Given the description of an element on the screen output the (x, y) to click on. 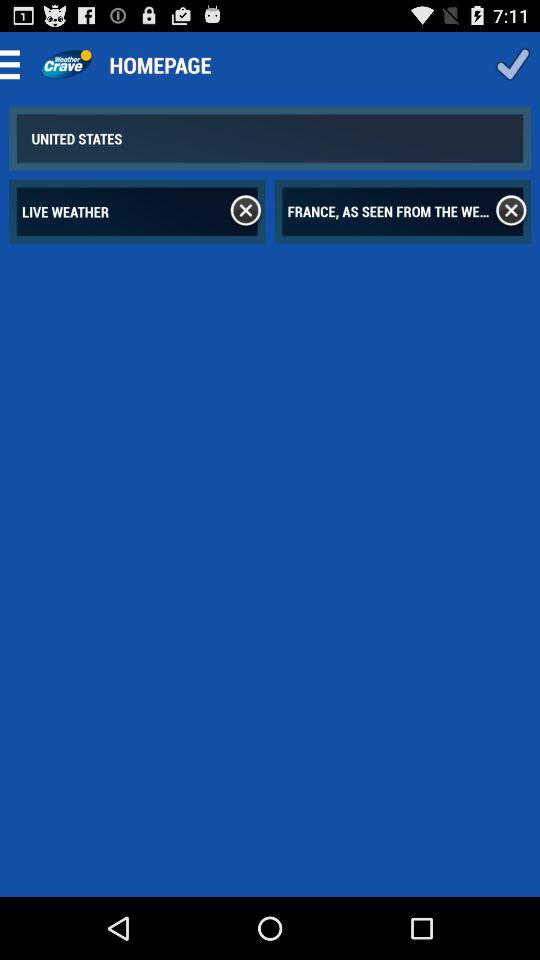
remove a tag from your search (245, 211)
